Given the description of an element on the screen output the (x, y) to click on. 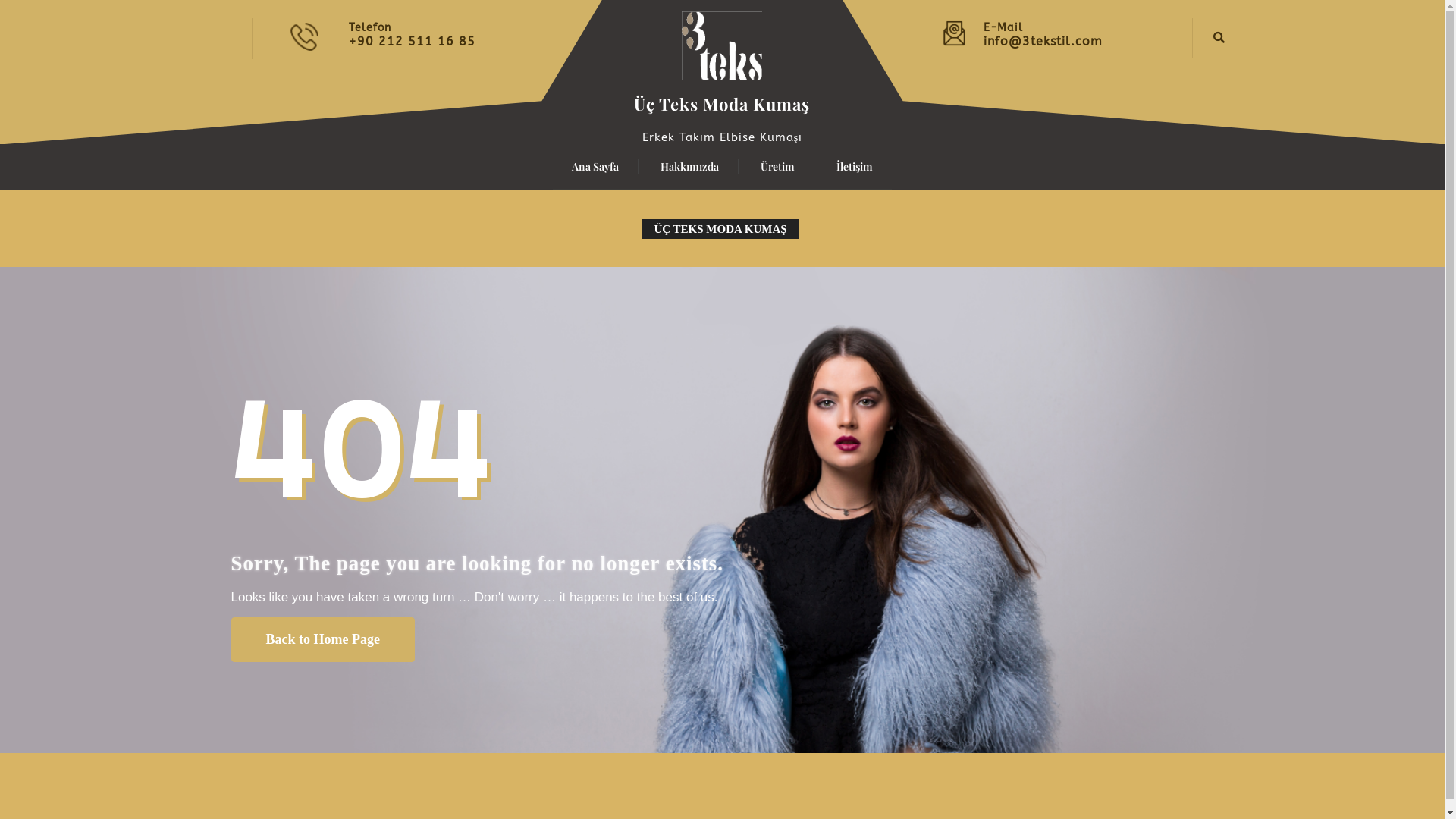
Back to Home Page Element type: text (322, 639)
E-Mail
info@3tekstil.com Element type: text (1083, 33)
Telefon
+90 212 511 16 85 Element type: text (470, 33)
Ana Sayfa Element type: text (595, 166)
